Given the description of an element on the screen output the (x, y) to click on. 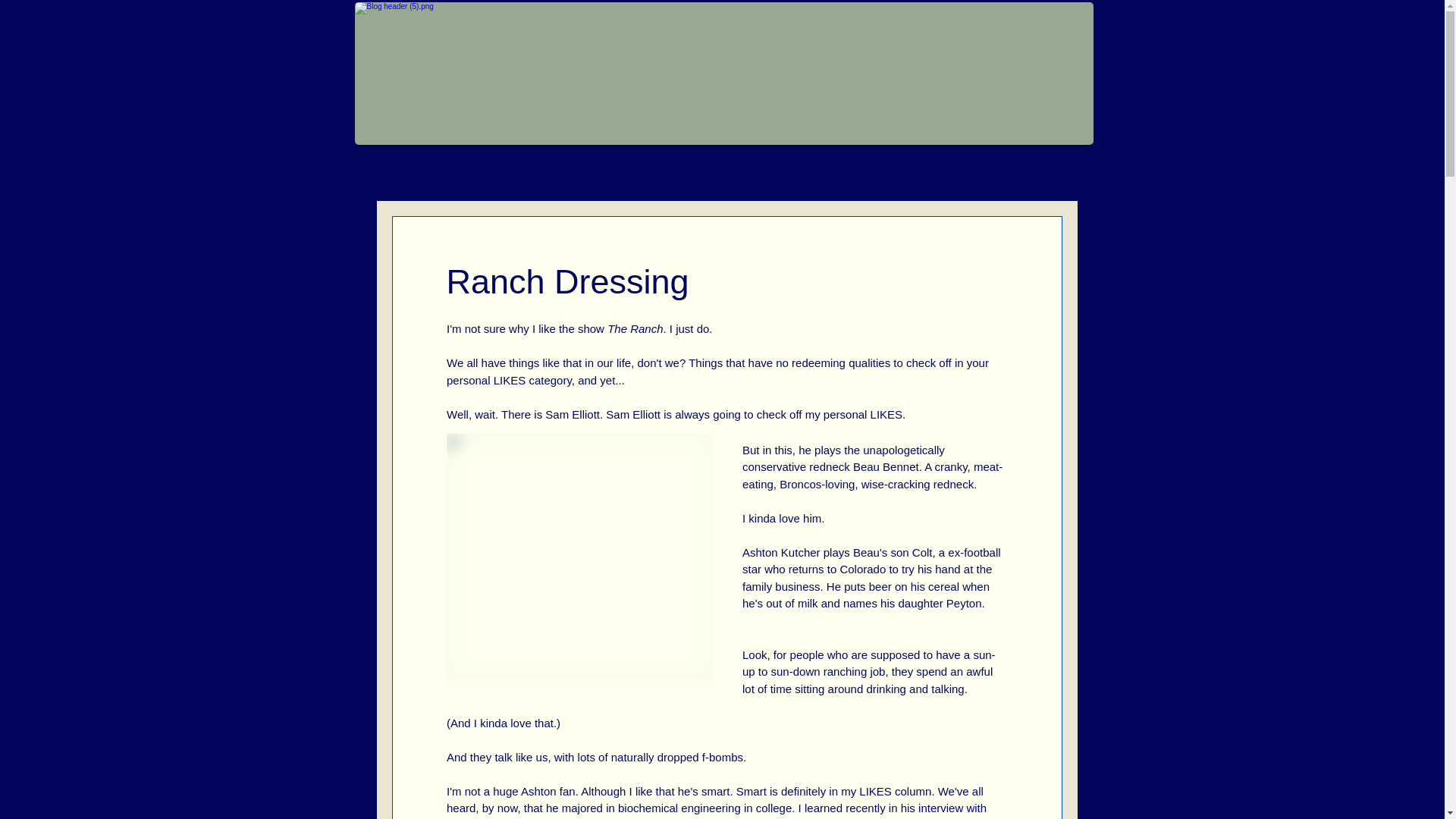
interview with Marc Maron (716, 810)
